Given the description of an element on the screen output the (x, y) to click on. 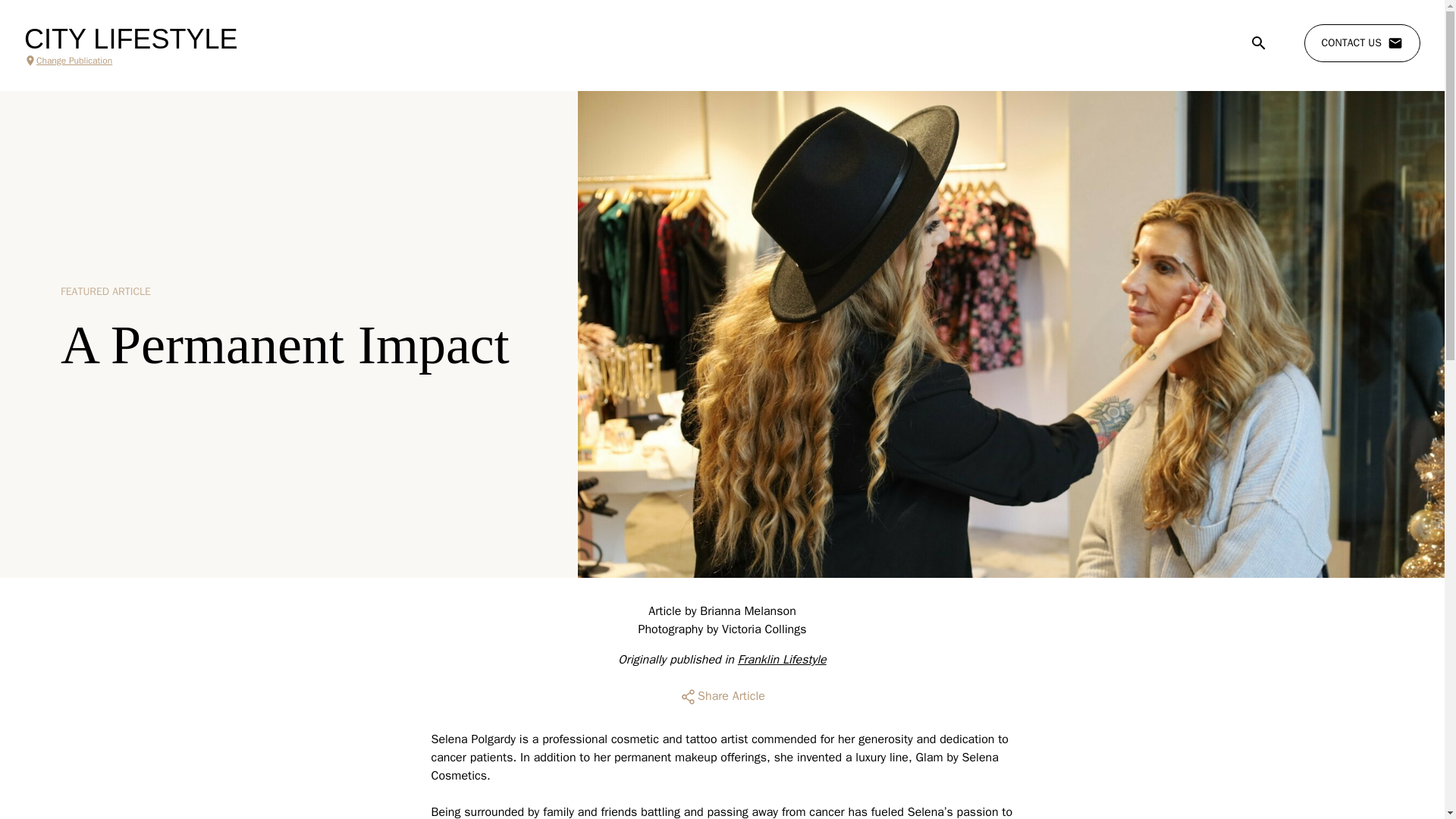
CONTACT US (1362, 43)
Change Publication (130, 60)
Franklin Lifestyle (782, 659)
CITY LIFESTYLE (130, 39)
Share Article (722, 696)
